Given the description of an element on the screen output the (x, y) to click on. 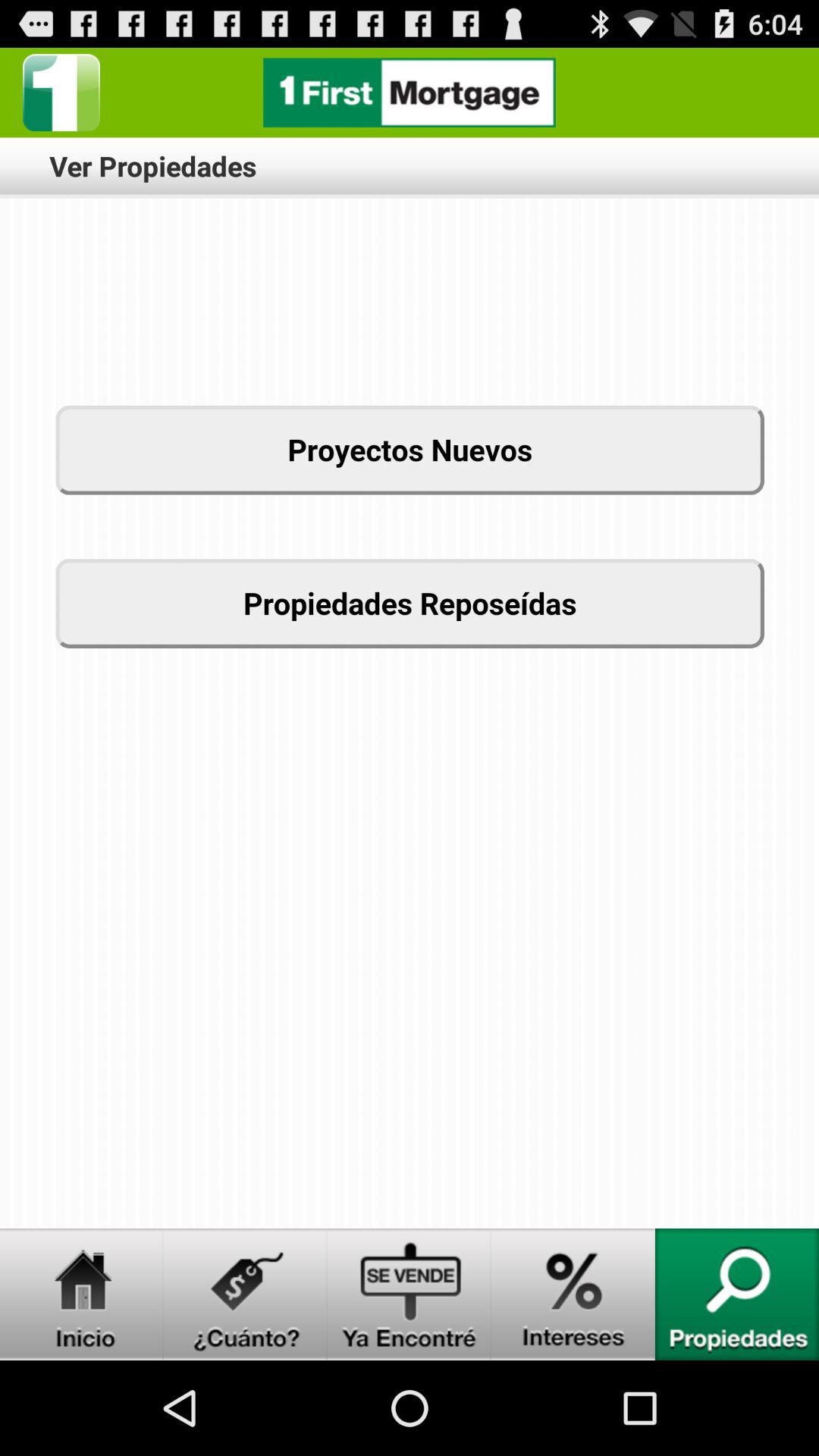
go to home page (61, 92)
